Given the description of an element on the screen output the (x, y) to click on. 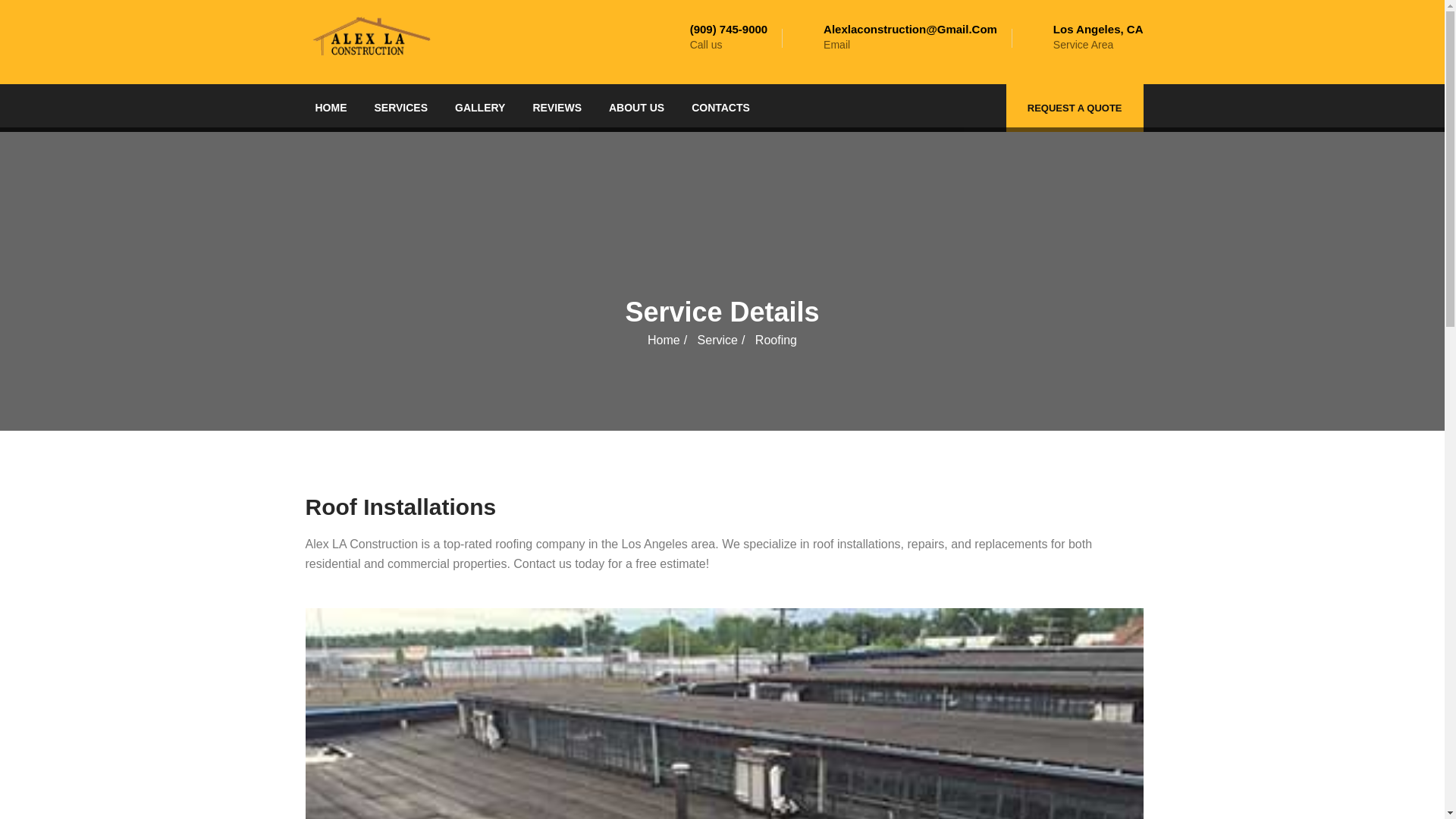
ABOUT US (636, 107)
HOME (331, 107)
CONTACTS (720, 107)
GALLERY (479, 107)
REVIEWS (556, 107)
Home (663, 339)
SERVICES (401, 107)
REQUEST A QUOTE (1074, 107)
